Given the description of an element on the screen output the (x, y) to click on. 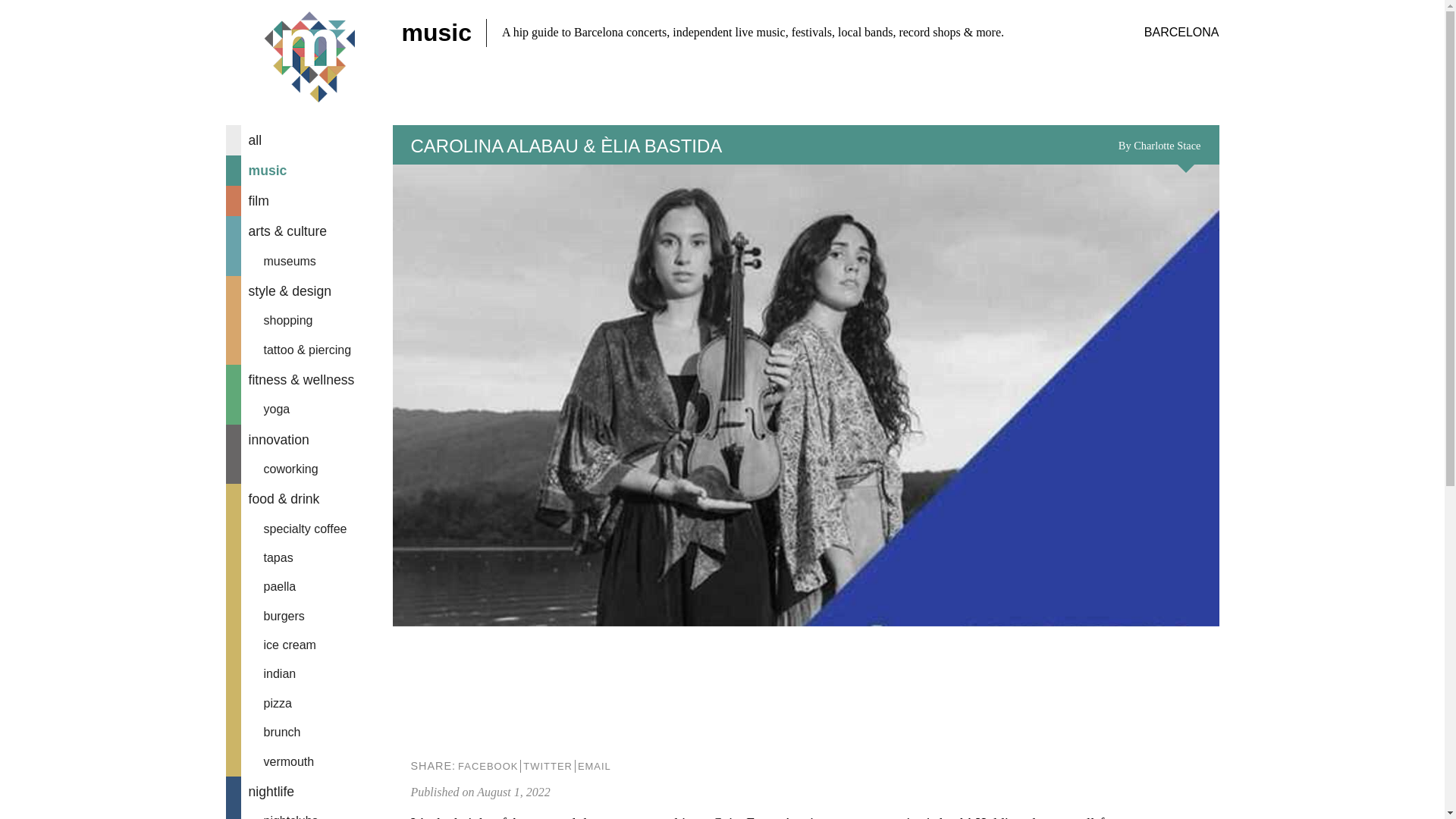
nightlife (309, 791)
specialty coffee (309, 528)
innovation (309, 440)
coworking (309, 469)
paella (309, 586)
EMAIL (593, 766)
museums (309, 261)
FACEBOOK (487, 766)
all (309, 140)
nightclubs (309, 812)
tapas (309, 557)
burgers (309, 615)
music (309, 170)
shopping (309, 320)
pizza (309, 703)
